Given the description of an element on the screen output the (x, y) to click on. 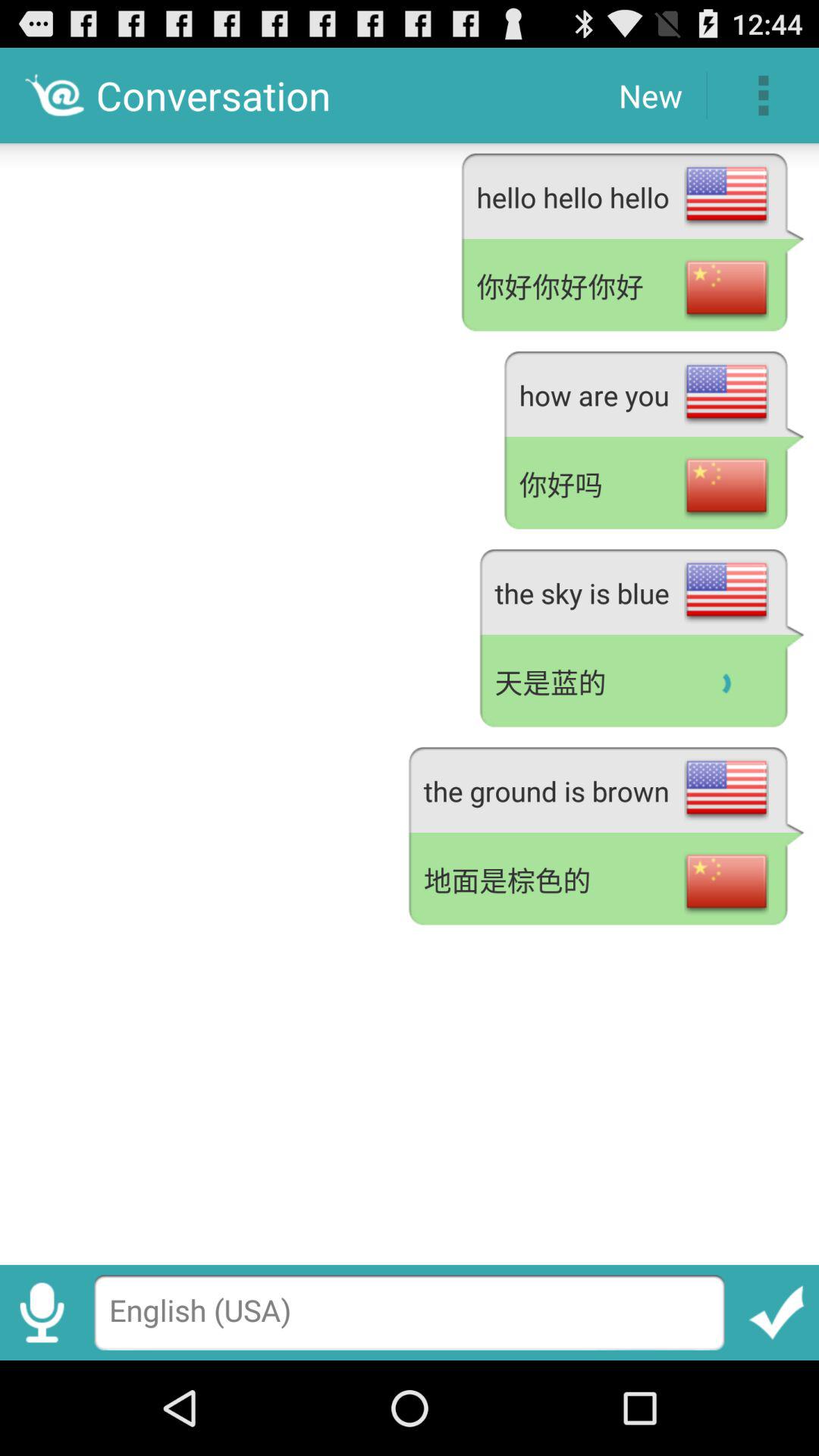
enable speech to text (42, 1312)
